Given the description of an element on the screen output the (x, y) to click on. 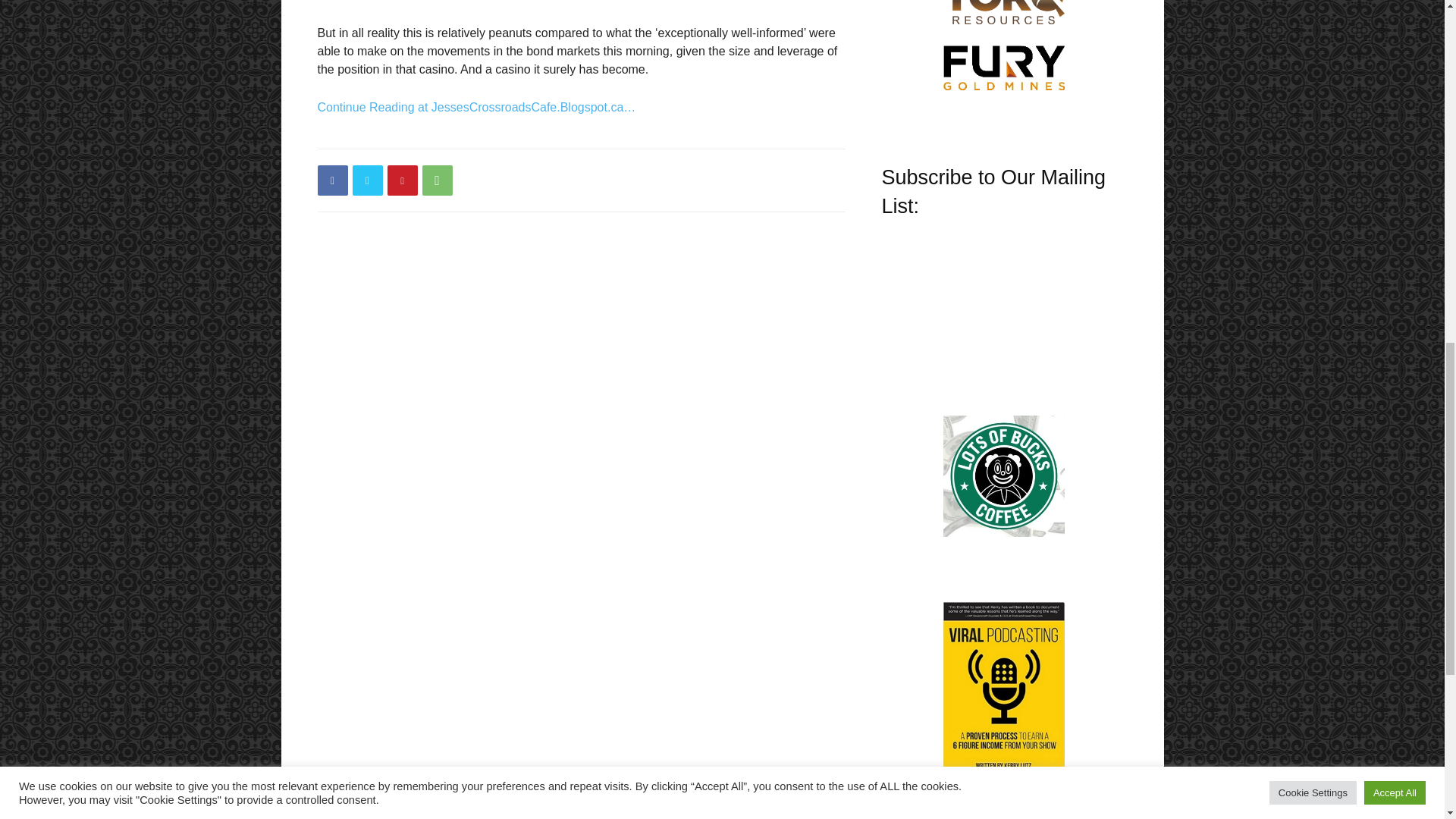
Twitter (366, 180)
Facebook (332, 180)
WhatsApp (436, 180)
Pinterest (401, 180)
